Given the description of an element on the screen output the (x, y) to click on. 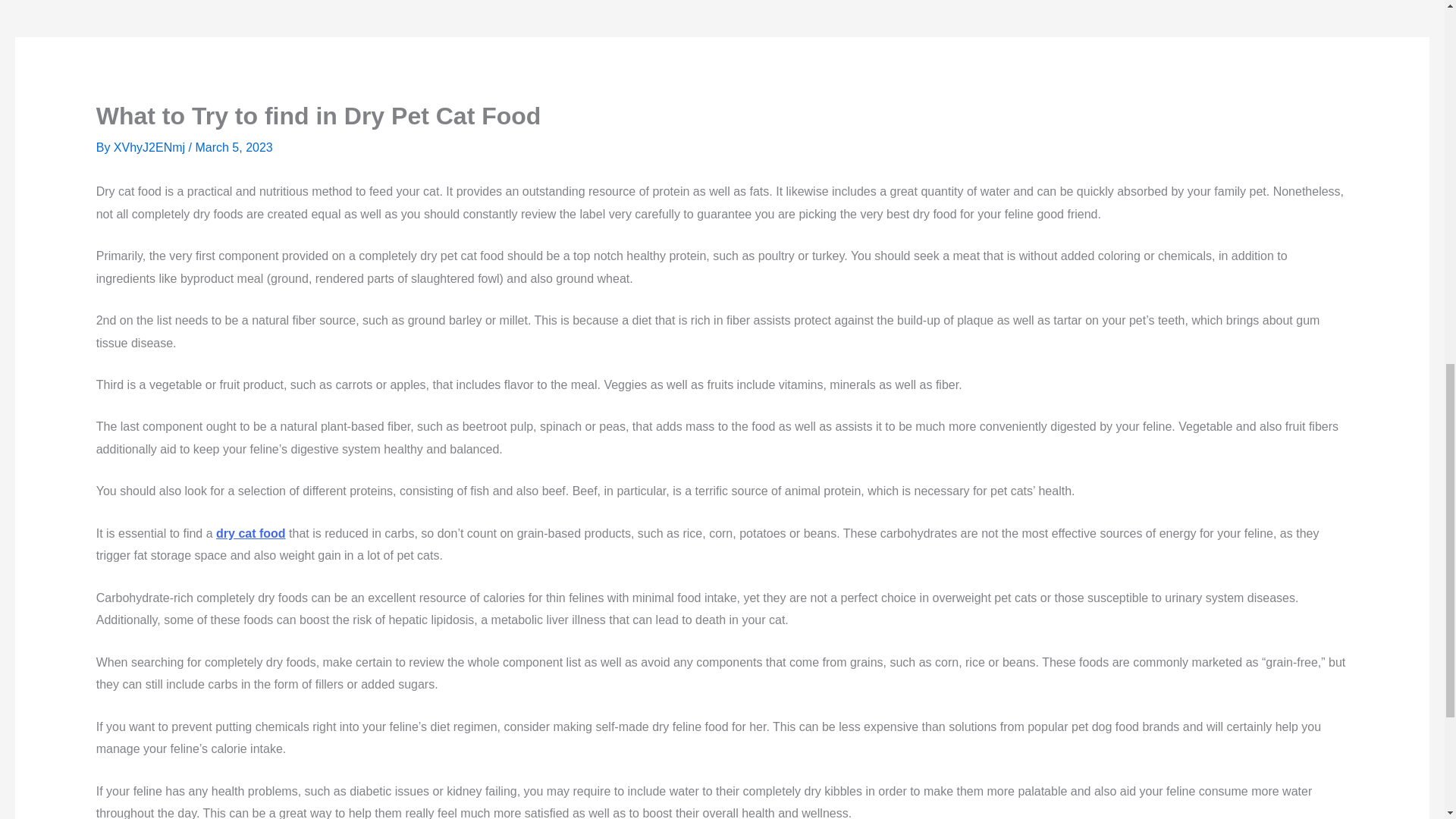
XVhyJ2ENmj (151, 146)
View all posts by XVhyJ2ENmj (151, 146)
dry cat food (250, 533)
